Given the description of an element on the screen output the (x, y) to click on. 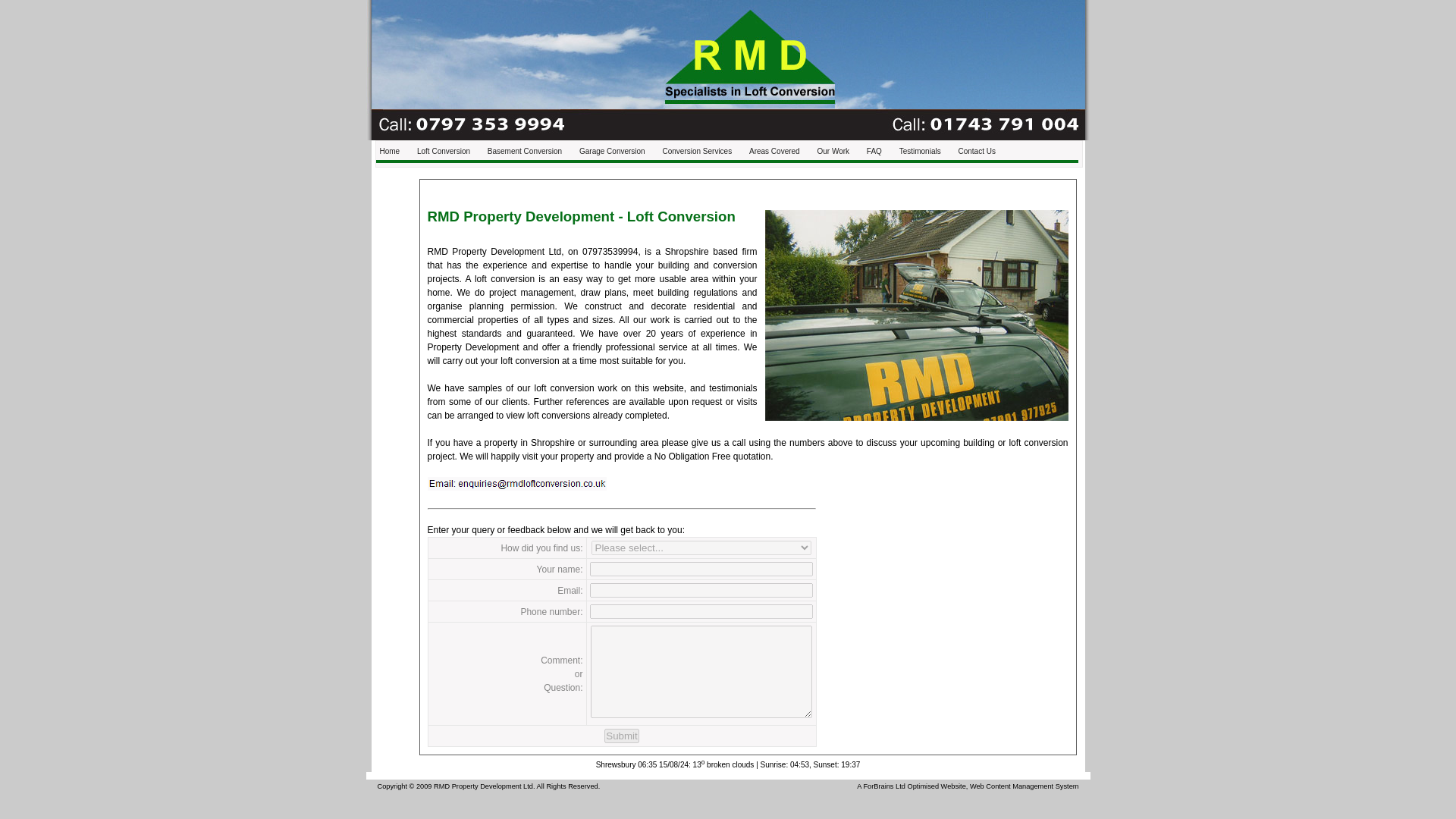
Sample Loft Conversions (832, 150)
RMD Loft Conversion (389, 150)
This is optional (700, 590)
Testimonials (919, 150)
Home (389, 150)
Conversion Services (696, 150)
Loft Conversion (517, 483)
Software Development (883, 786)
Loft Conversion (915, 314)
FAQ (874, 150)
